Given the description of an element on the screen output the (x, y) to click on. 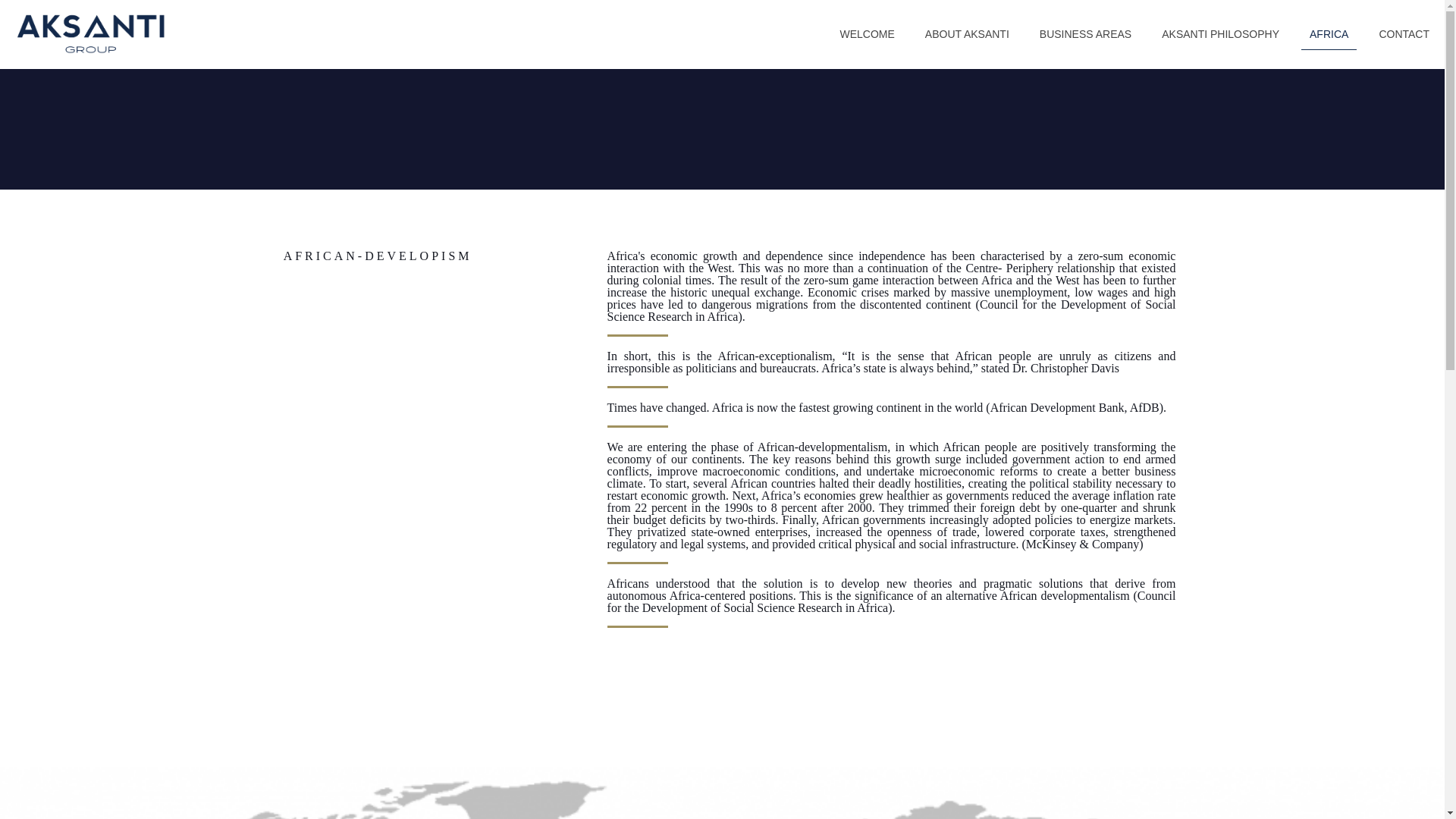
ABOUT AKSANTI (967, 33)
BUSINESS AREAS (1086, 33)
AKSANTI PHILOSOPHY (1220, 33)
AFRICA (1328, 33)
WELCOME (866, 33)
Aksanti Group (89, 33)
